Given the description of an element on the screen output the (x, y) to click on. 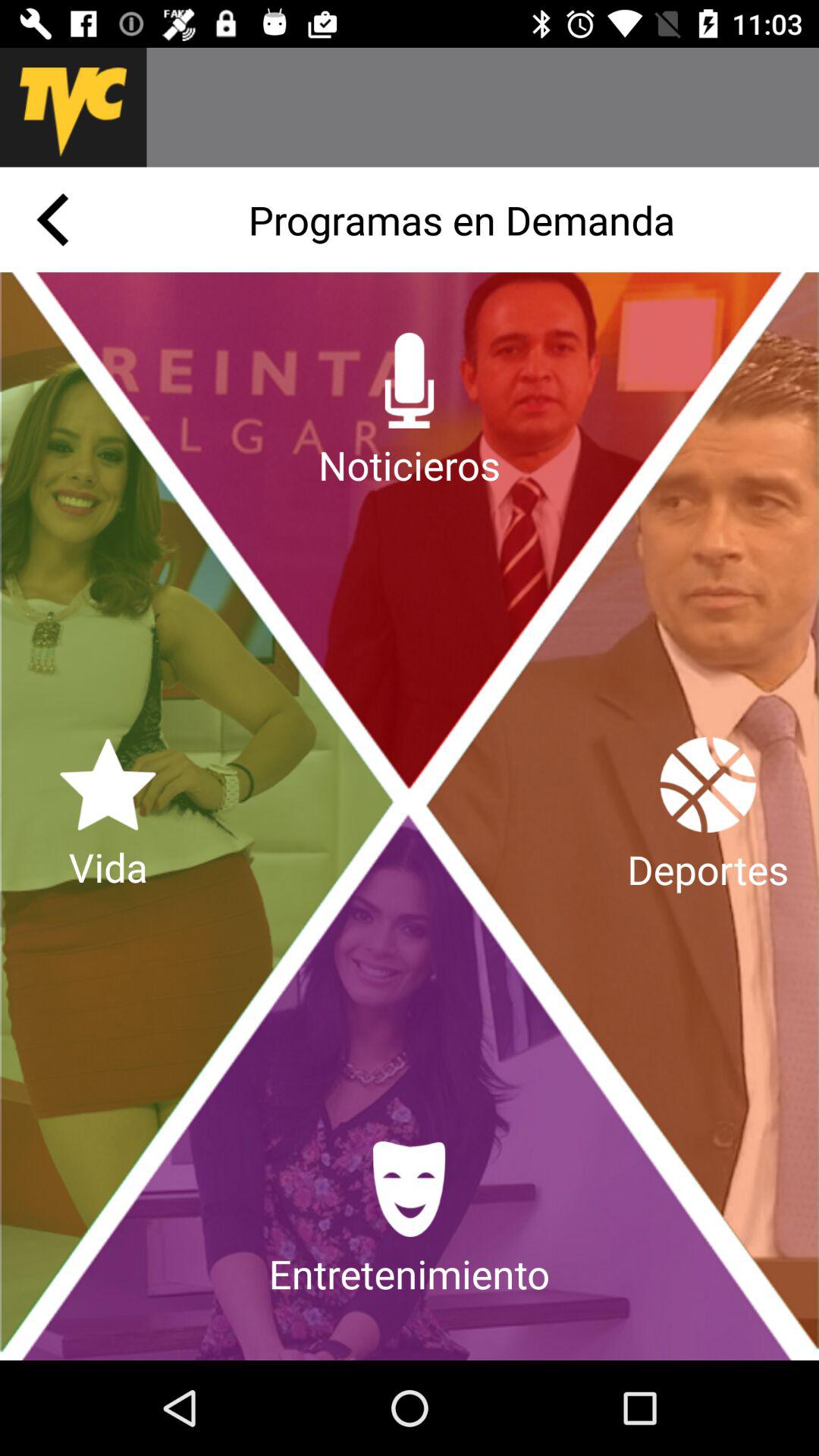
search (482, 107)
